Given the description of an element on the screen output the (x, y) to click on. 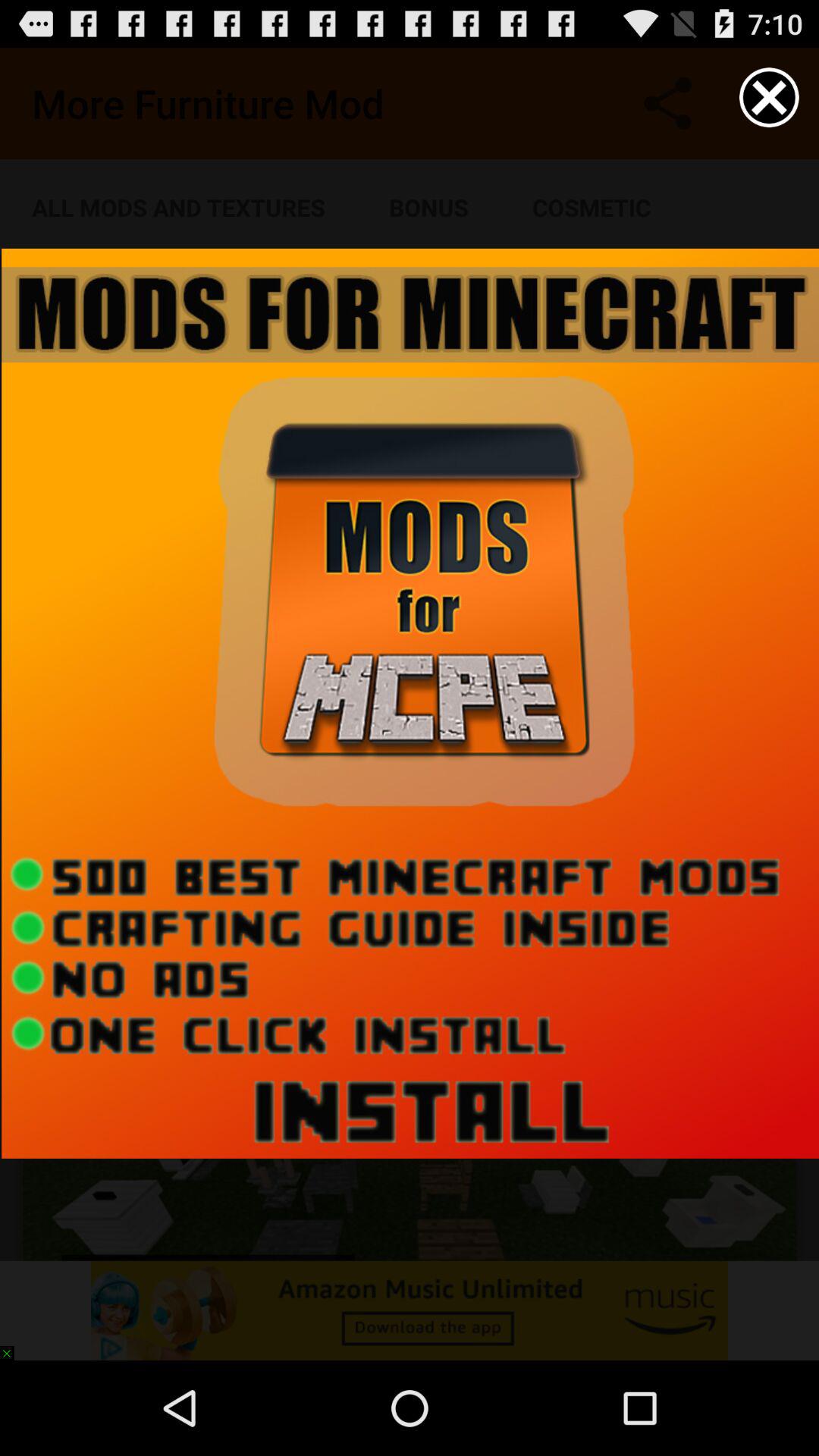
click close on x (769, 97)
